Given the description of an element on the screen output the (x, y) to click on. 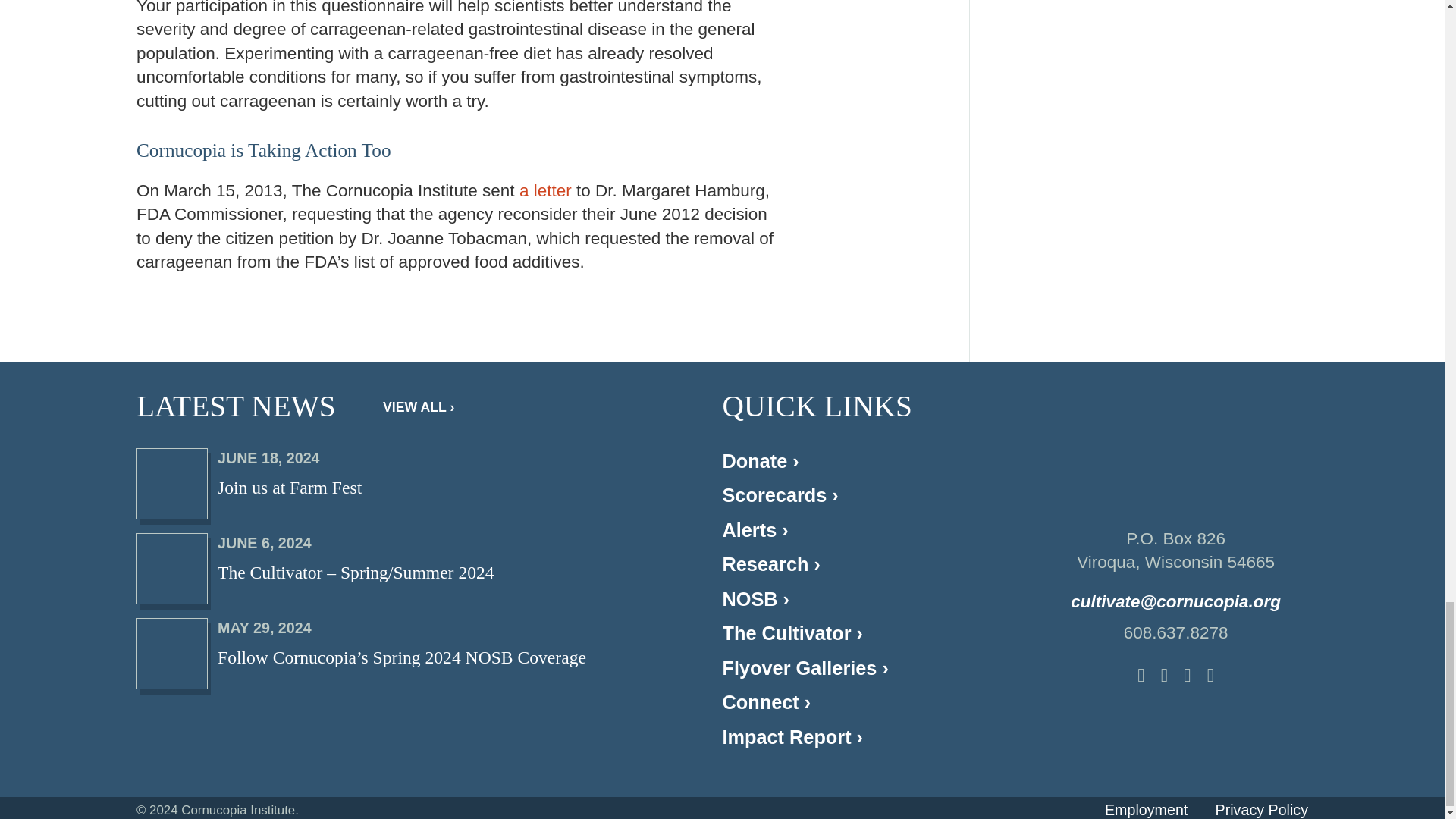
a letter (400, 482)
Cornucopia Institute (545, 189)
